Given the description of an element on the screen output the (x, y) to click on. 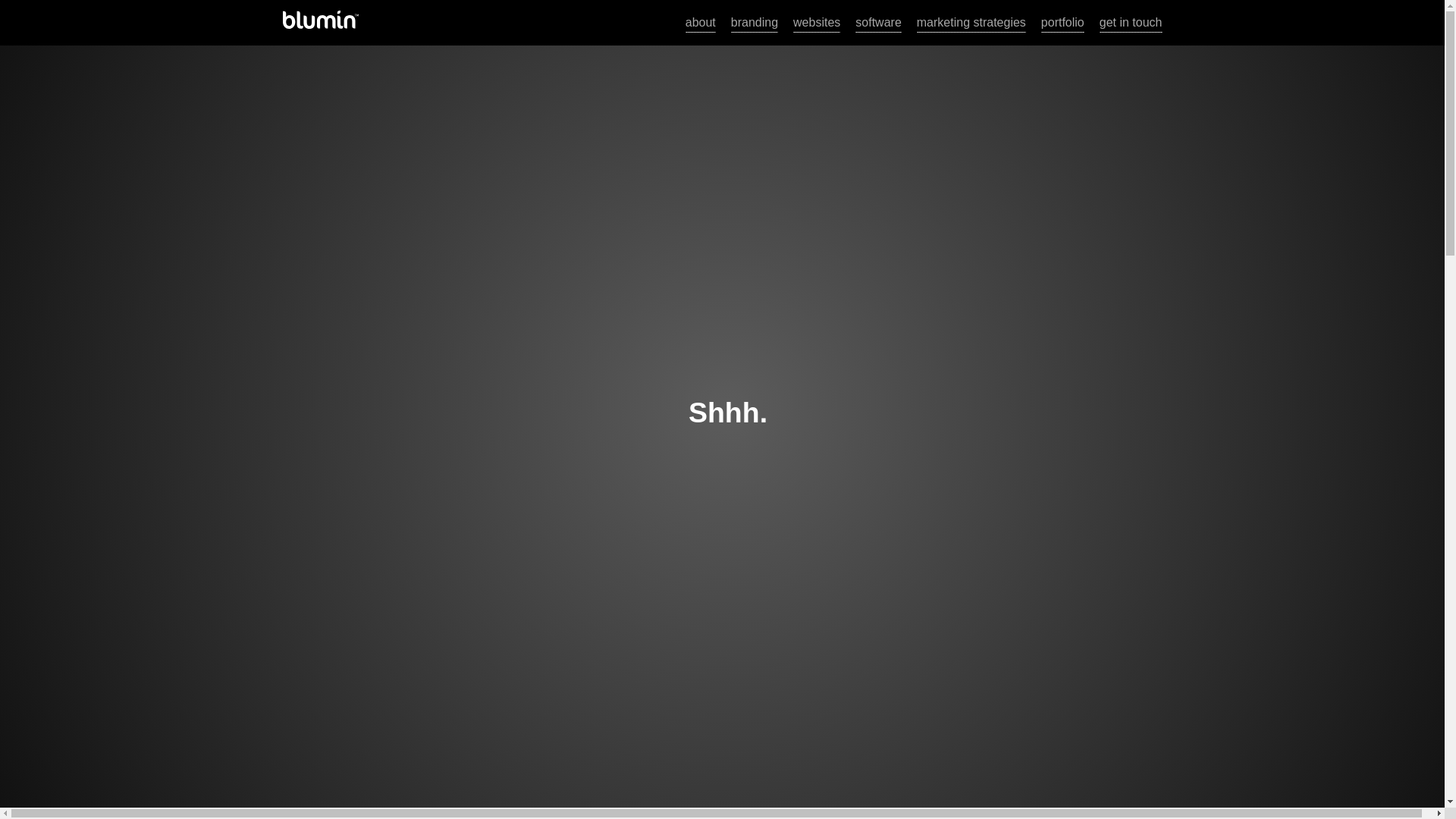
branding (753, 22)
software (878, 22)
about (700, 22)
websites (816, 22)
get in touch (1130, 22)
marketing strategies (971, 22)
portfolio (1062, 22)
